Given the description of an element on the screen output the (x, y) to click on. 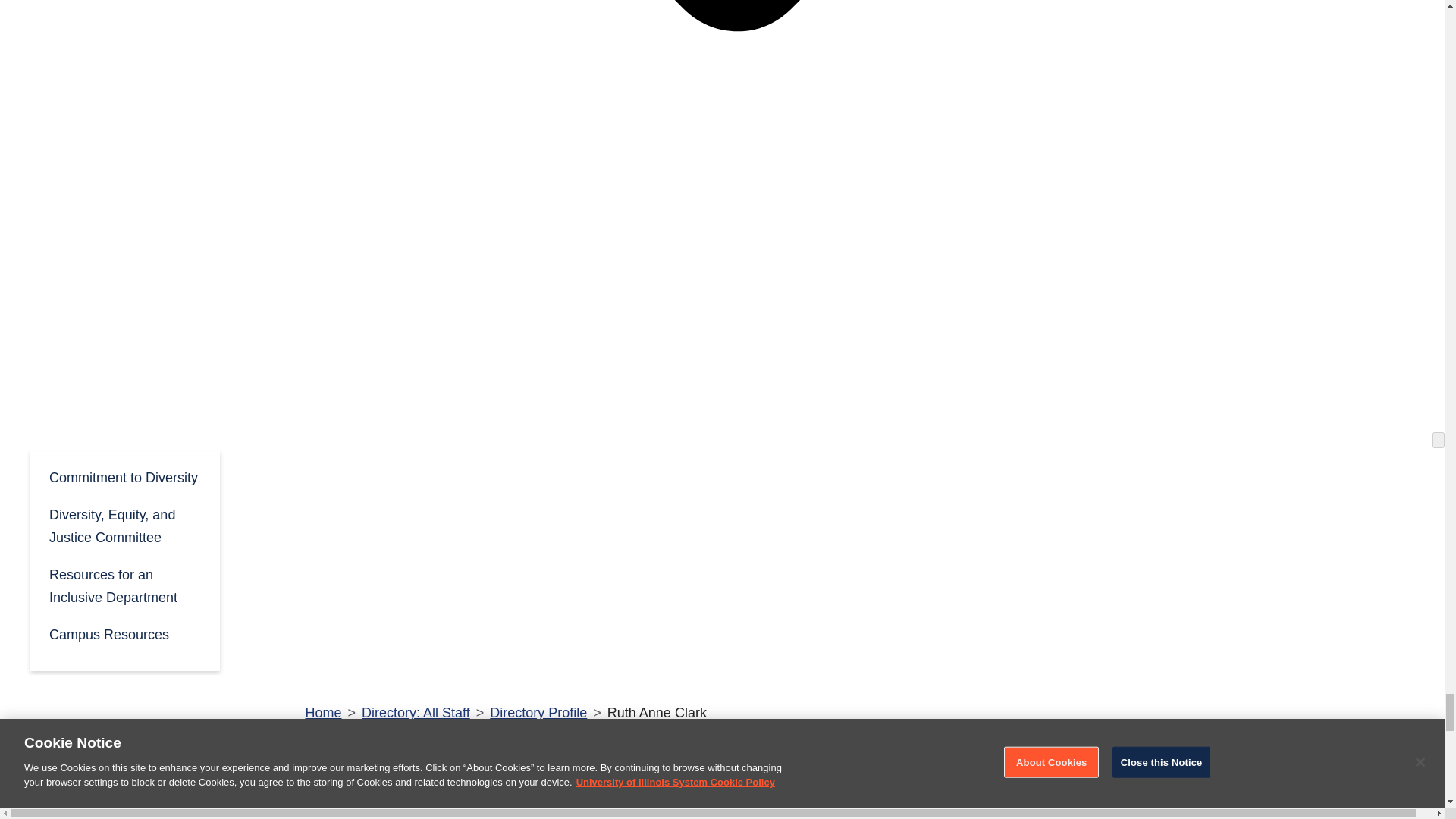
Commitment to Diversity (125, 476)
